Given the description of an element on the screen output the (x, y) to click on. 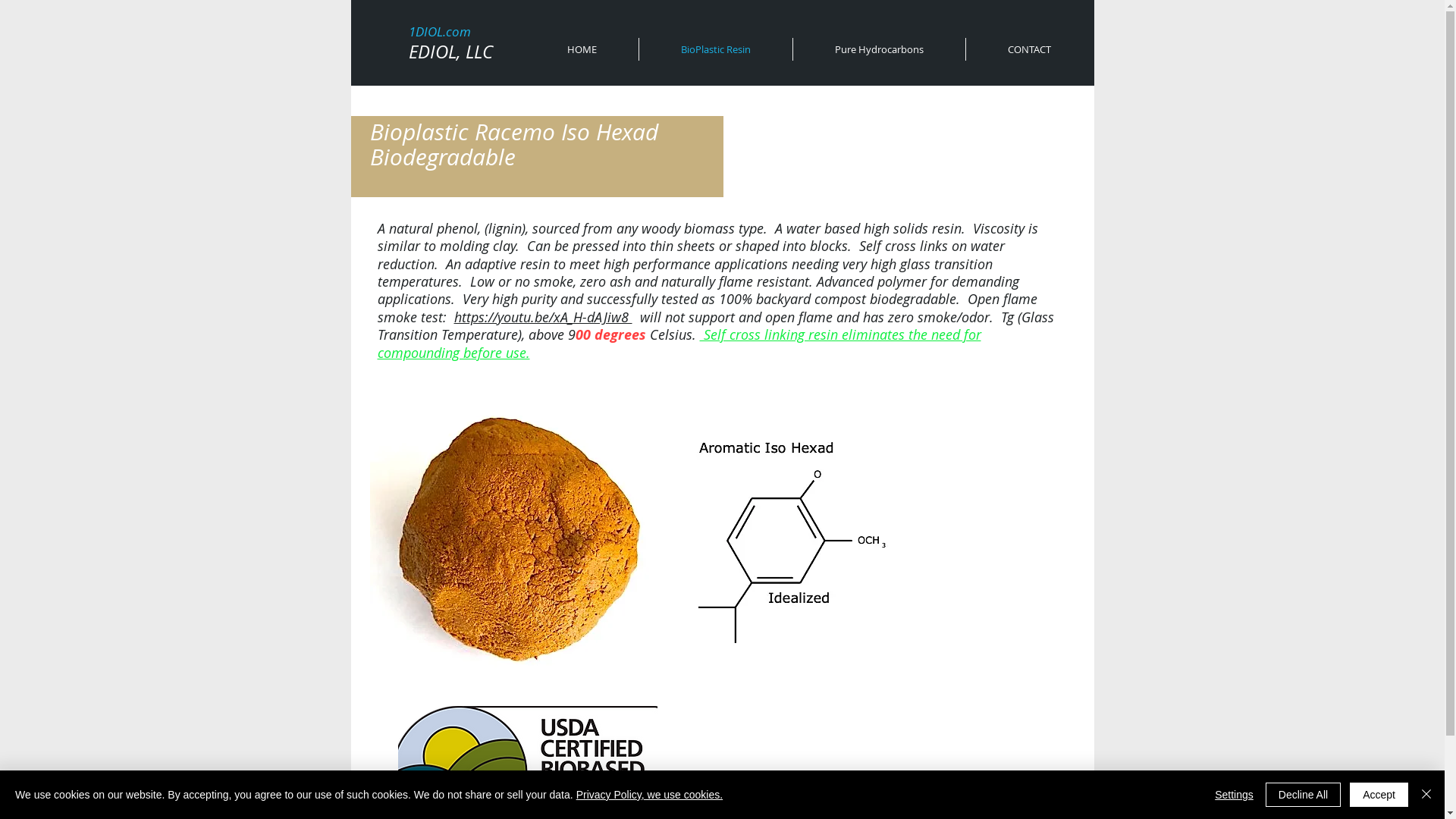
BioPlastic Resin Element type: text (714, 48)
Phenol 11.jpeg Element type: hover (513, 540)
https://youtu.be/xA_H-dAJiw8  Element type: text (542, 316)
CONTACT Element type: text (1029, 48)
Decline All Element type: text (1302, 794)
HOME Element type: text (580, 48)
Pure Hydrocarbons Element type: text (879, 48)
Accept Element type: text (1378, 794)
1diol a.jpeg Element type: hover (788, 548)
Privacy Policy, we use cookies. Element type: text (649, 794)
